Given the description of an element on the screen output the (x, y) to click on. 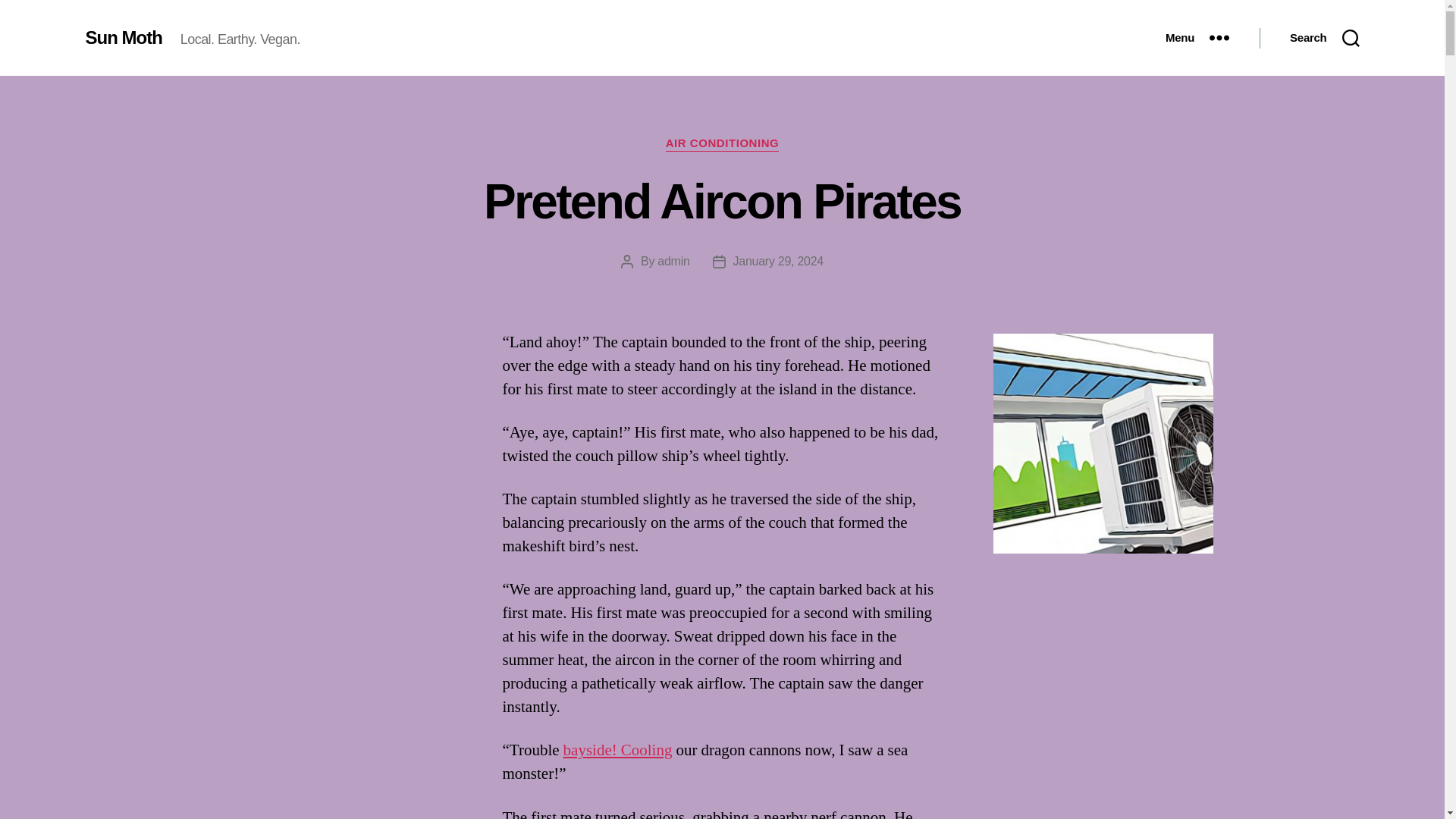
AIR CONDITIONING (721, 143)
Pretend Aircon Pirates (721, 201)
Search (1324, 37)
admin (673, 260)
January 29, 2024 (778, 260)
Menu (1197, 37)
Sun Moth (122, 37)
bayside! Cooling (617, 750)
